Given the description of an element on the screen output the (x, y) to click on. 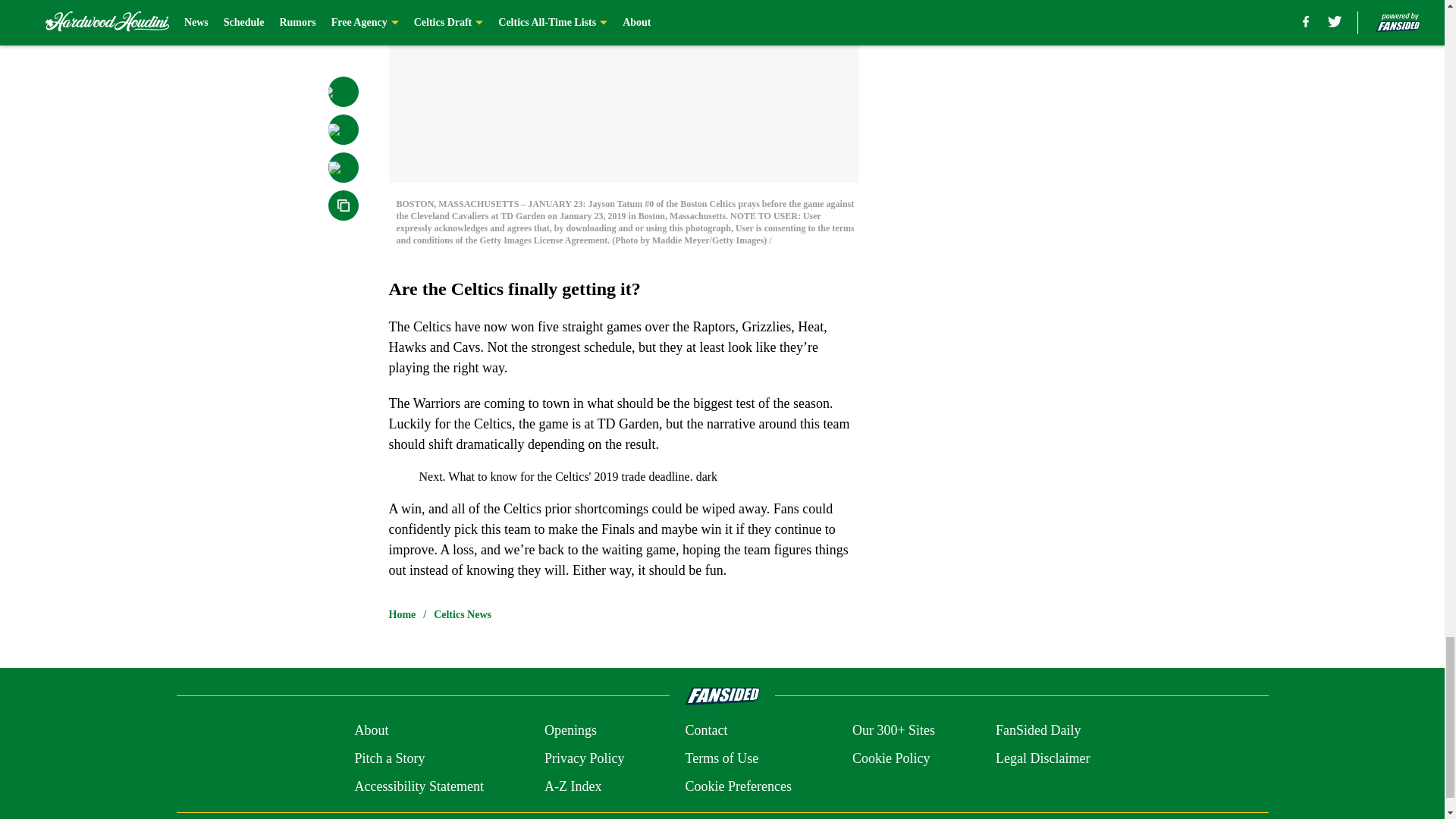
Openings (570, 730)
Home (401, 613)
About (370, 730)
FanSided Daily (1038, 730)
Celtics News (462, 613)
Contact (705, 730)
